Given the description of an element on the screen output the (x, y) to click on. 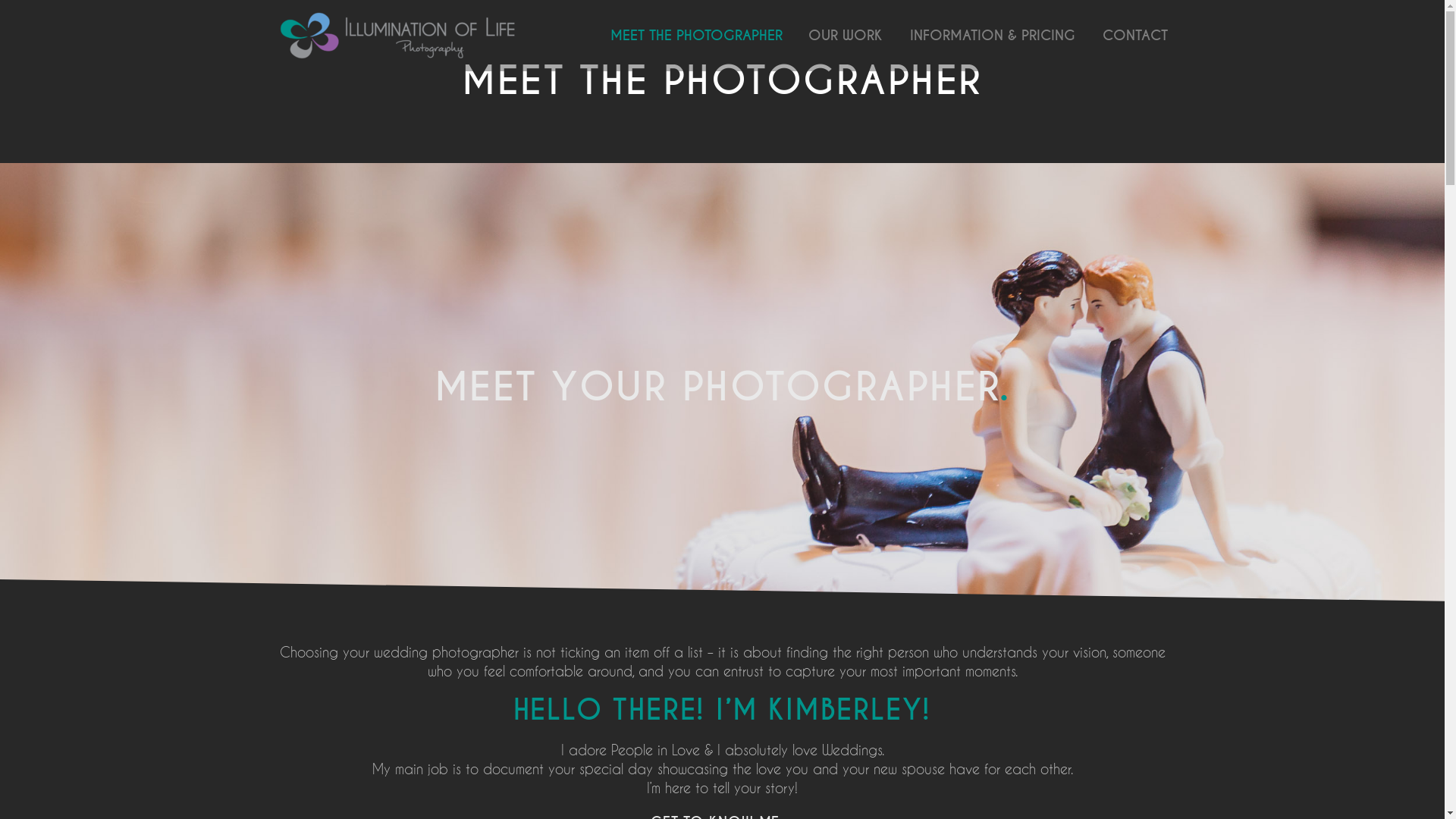
CONTACT Element type: text (1134, 35)
INFORMATION & PRICING Element type: text (991, 35)
OUR WORK Element type: text (844, 35)
MEET THE PHOTOGRAPHER Element type: text (696, 35)
